Given the description of an element on the screen output the (x, y) to click on. 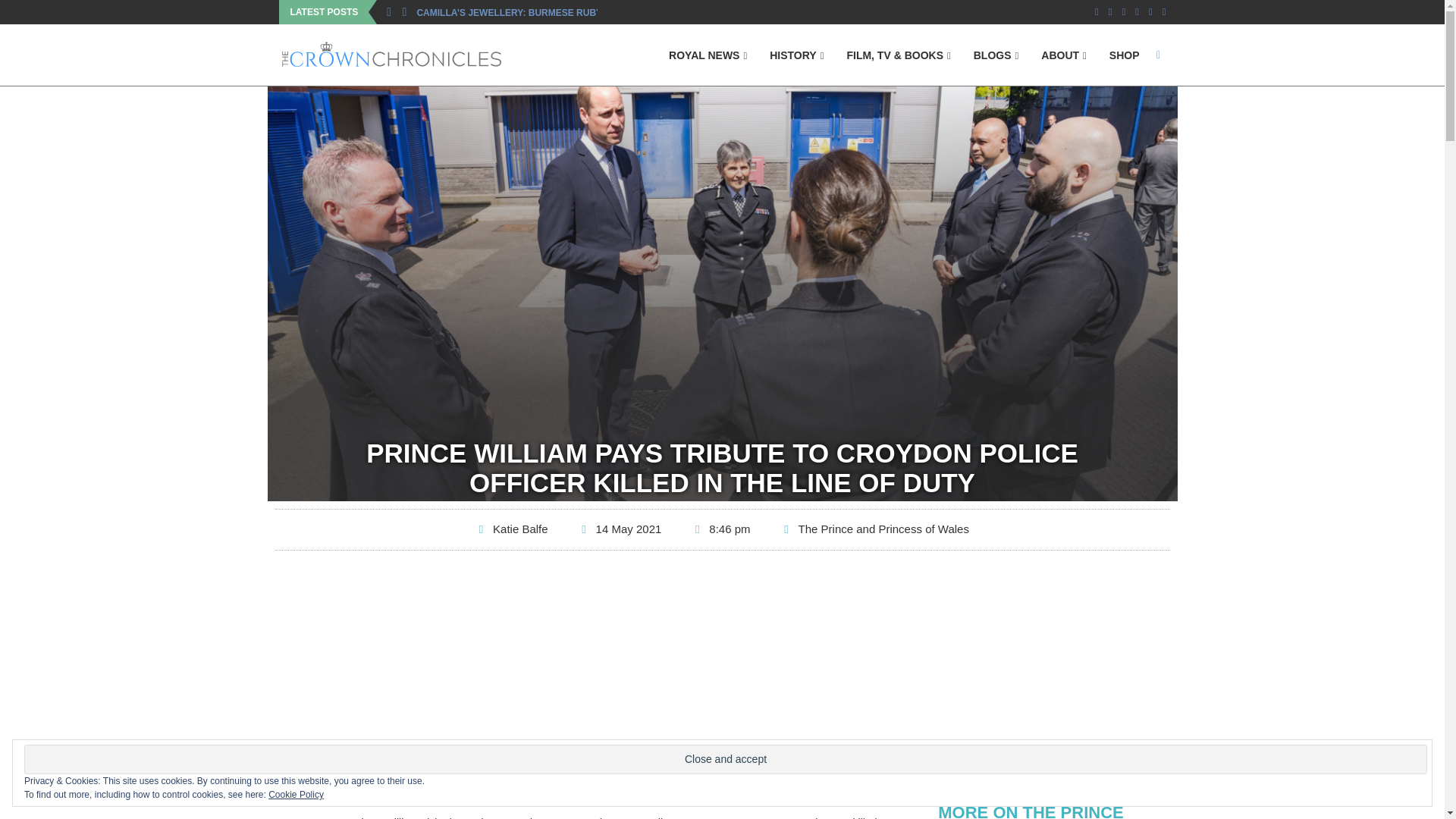
Close and accept (725, 758)
ROYAL NEWS (707, 55)
